Given the description of an element on the screen output the (x, y) to click on. 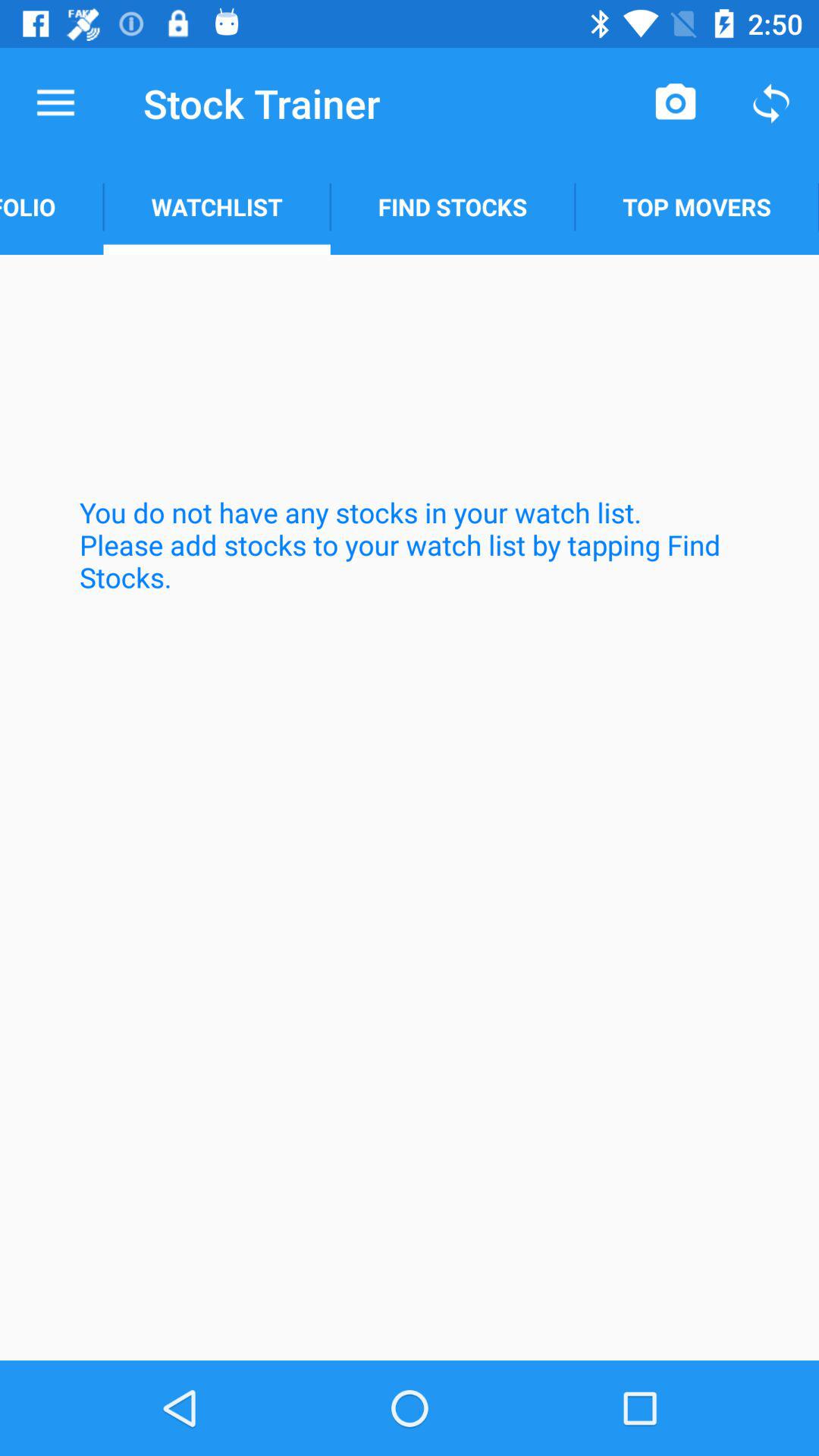
turn on the icon above the you do not (51, 206)
